Given the description of an element on the screen output the (x, y) to click on. 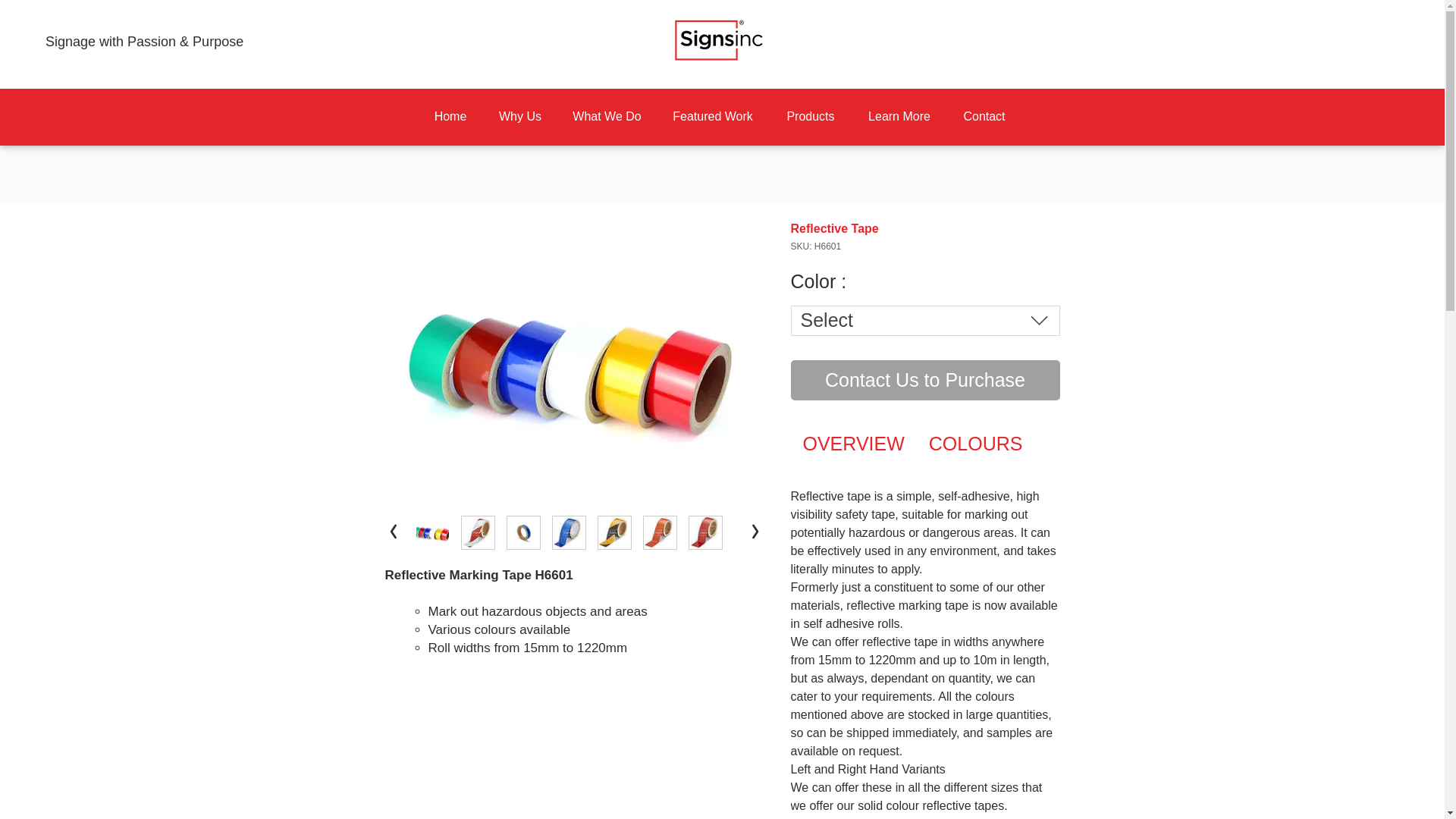
Select (924, 320)
Contact Us to Purchase (924, 380)
Contact (984, 116)
Featured Work (713, 116)
What We Do (606, 116)
Use right and left arrows to navigate between tabs (853, 443)
Home (451, 116)
Why Us (519, 116)
Products (809, 116)
Use right and left arrows to navigate between tabs (975, 443)
Learn More (899, 116)
